Given the description of an element on the screen output the (x, y) to click on. 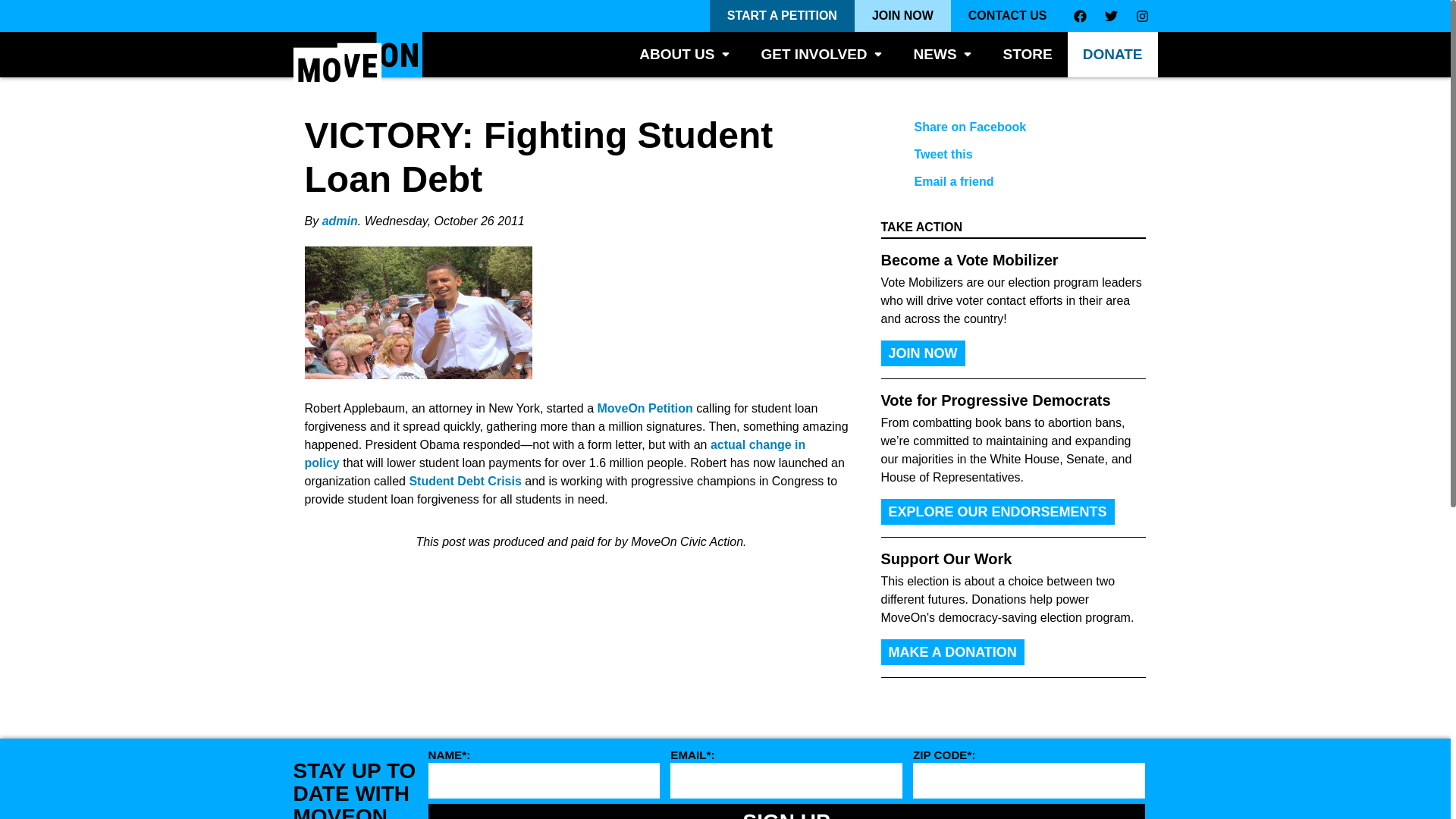
MoveOn Petition (644, 408)
Email a friend (1001, 181)
Student Debt Crisis (465, 481)
MAKE A DONATION (952, 652)
JOIN NOW (902, 15)
Posts by admin (339, 220)
actual change in policy (555, 453)
DONATE (1112, 53)
Tweet this (1001, 154)
CONTACT US (1007, 15)
